Given the description of an element on the screen output the (x, y) to click on. 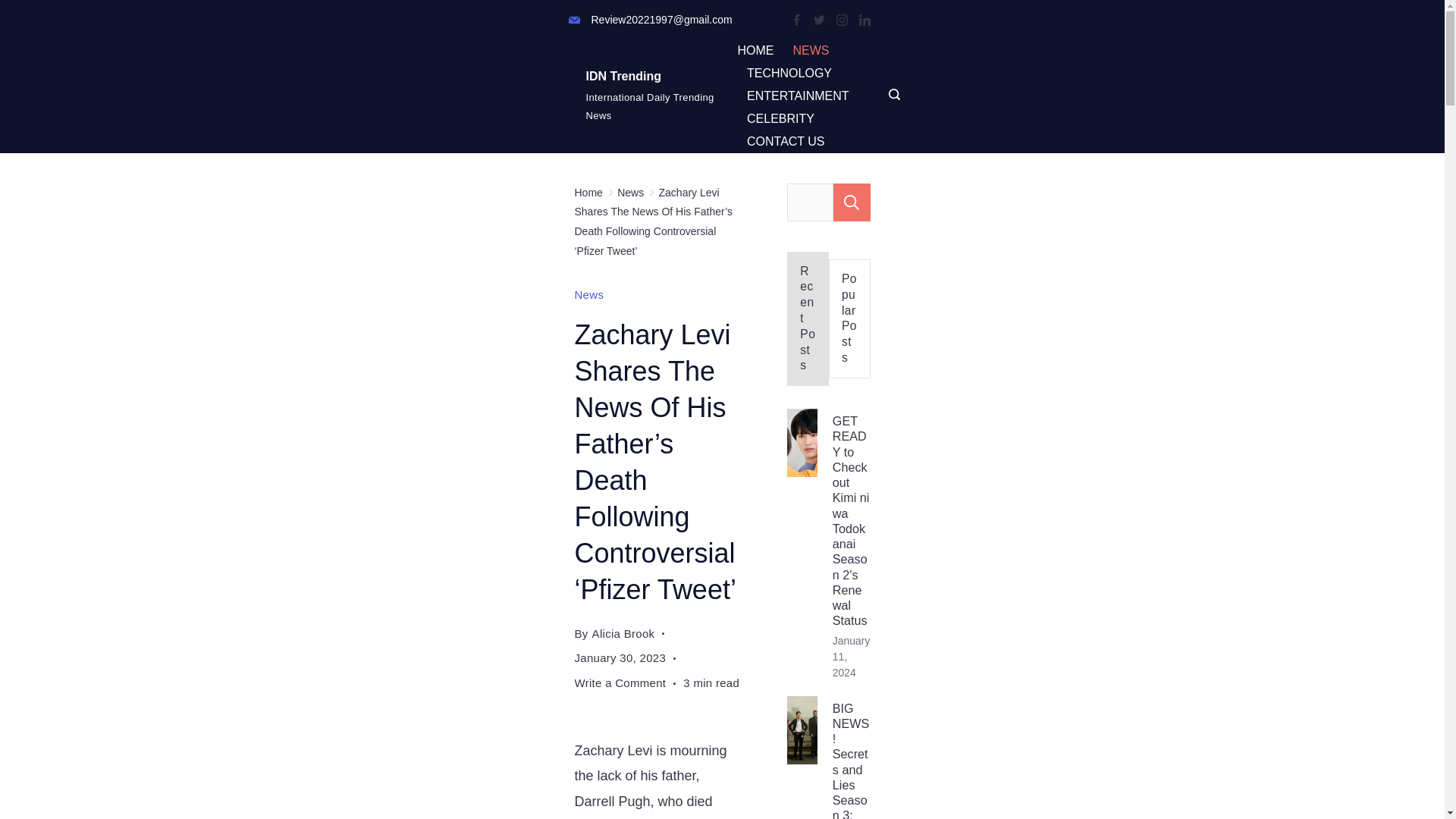
Alicia Brook (623, 633)
Home (588, 192)
CELEBRITY (780, 118)
CONTACT US (780, 141)
IDN Trending (623, 75)
TECHNOLOGY (788, 73)
NEWS (810, 50)
News (589, 294)
HOME (759, 50)
News (630, 192)
ENTERTAINMENT (797, 96)
